Given the description of an element on the screen output the (x, y) to click on. 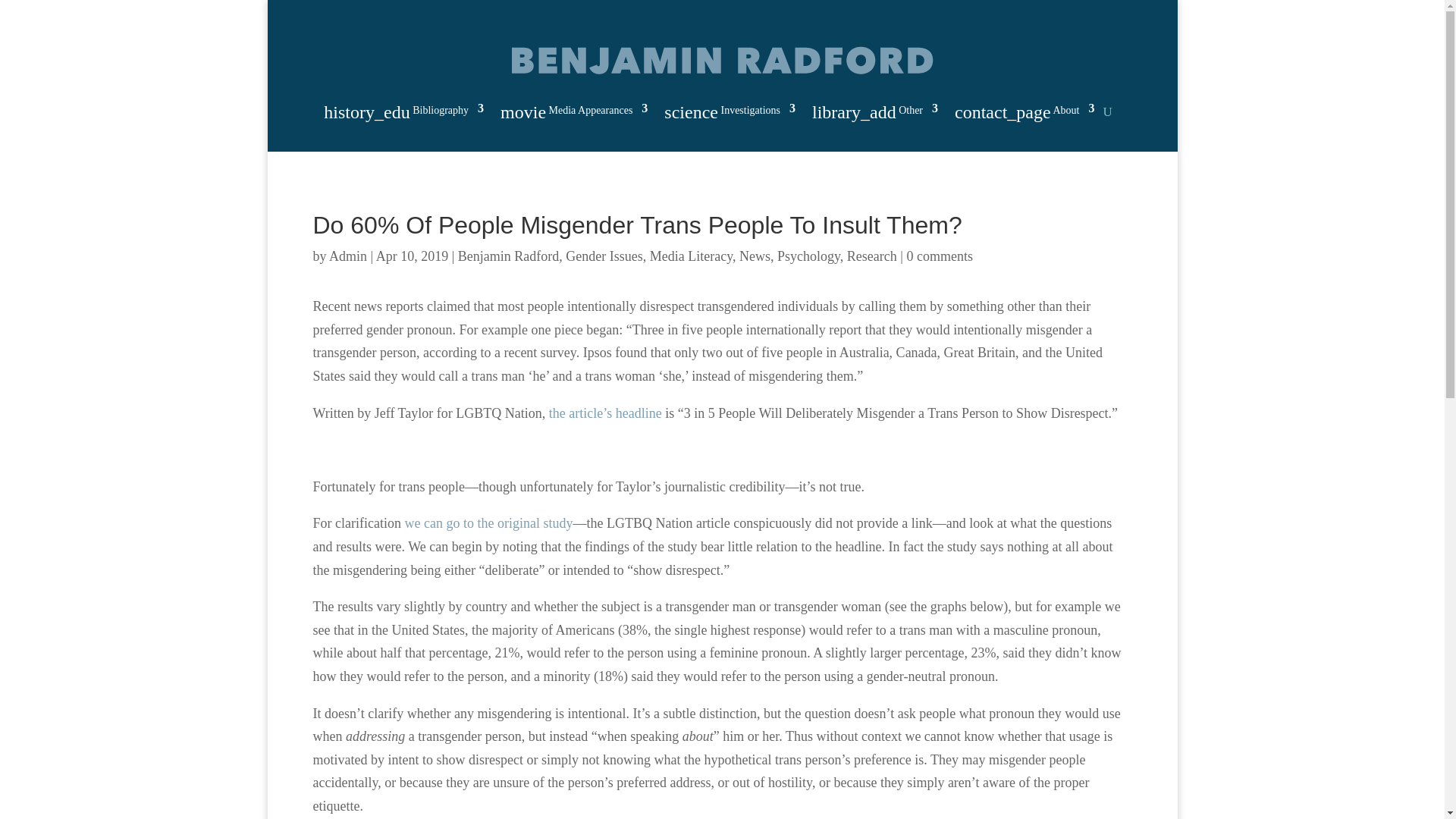
Psychology (808, 255)
0 comments (938, 255)
Research (871, 255)
Benjamin Radford (508, 255)
Media Literacy (690, 255)
Posts by Admin (347, 255)
movie Media Appearances (573, 115)
Admin (347, 255)
science Investigations (728, 115)
Gender Issues (604, 255)
News (754, 255)
we can go to the original study (488, 522)
toplogoBig (722, 59)
